Given the description of an element on the screen output the (x, y) to click on. 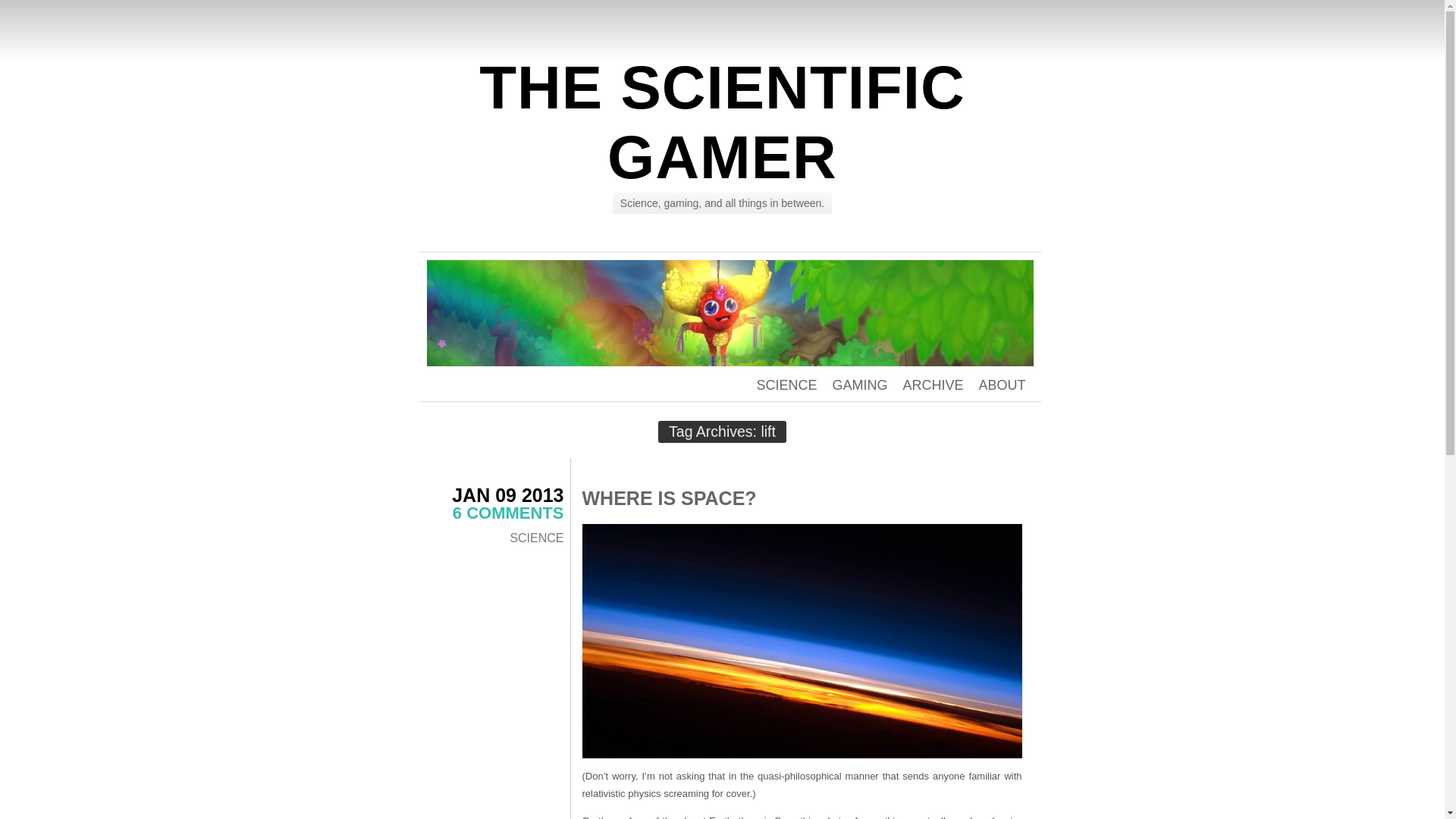
ABOUT (1001, 385)
WHERE IS SPACE? (669, 497)
SCIENCE (785, 385)
ARCHIVE (932, 385)
Comment on Where Is Space? (508, 512)
Reviews and nostalgic ramblings (858, 385)
View all posts in science (536, 537)
SCIENCE (536, 537)
6 COMMENTS (508, 512)
THE SCIENTIFIC GAMER (722, 122)
Is it up here? (802, 641)
JAN 09 2013 (507, 495)
The Scientific Gamer (722, 122)
GAMING (858, 385)
